Given the description of an element on the screen output the (x, y) to click on. 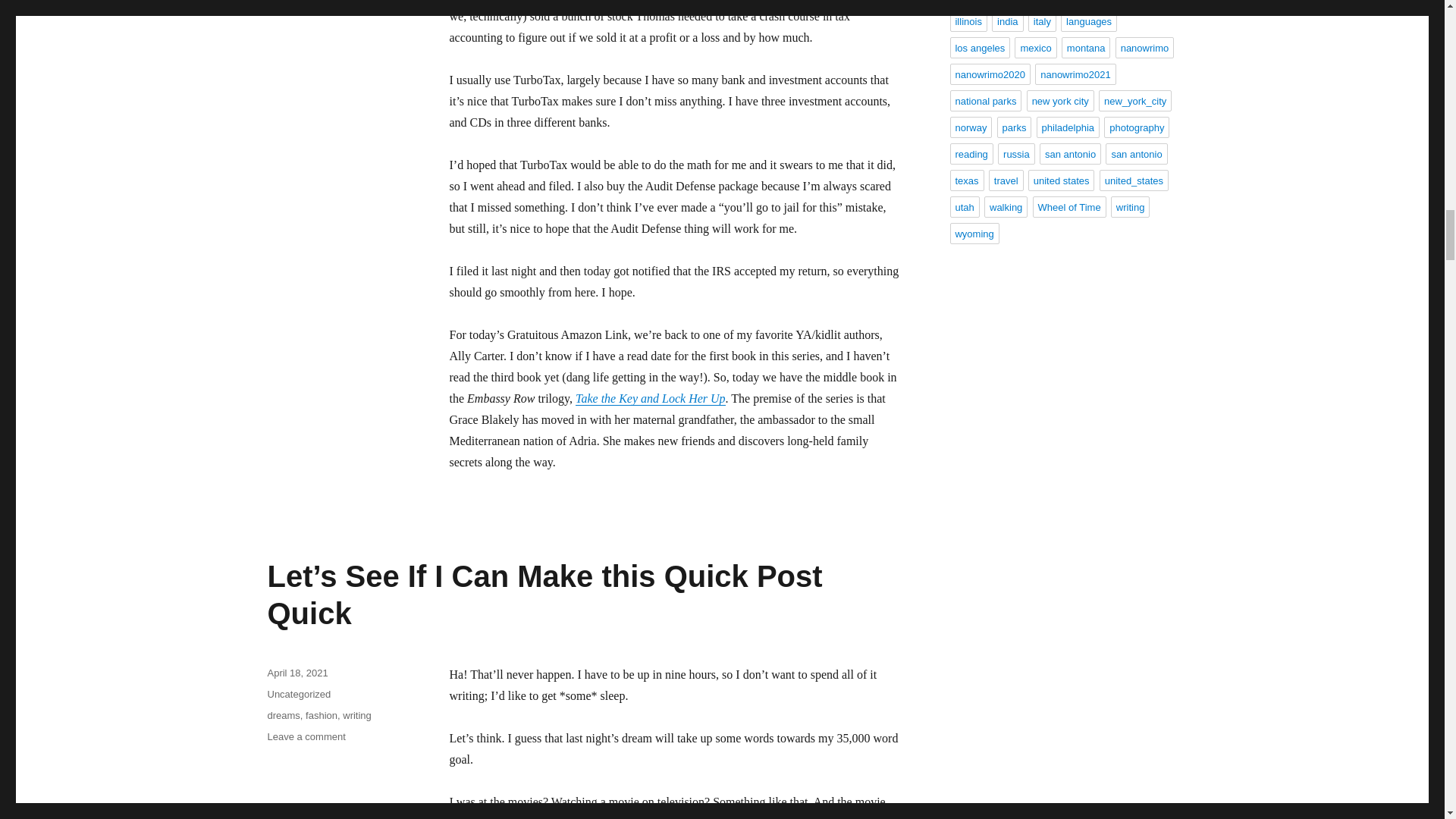
dreams (282, 715)
April 18, 2021 (296, 672)
Uncategorized (298, 694)
fashion (321, 715)
writing (356, 715)
Take the Key and Lock Her Up (650, 398)
